Given the description of an element on the screen output the (x, y) to click on. 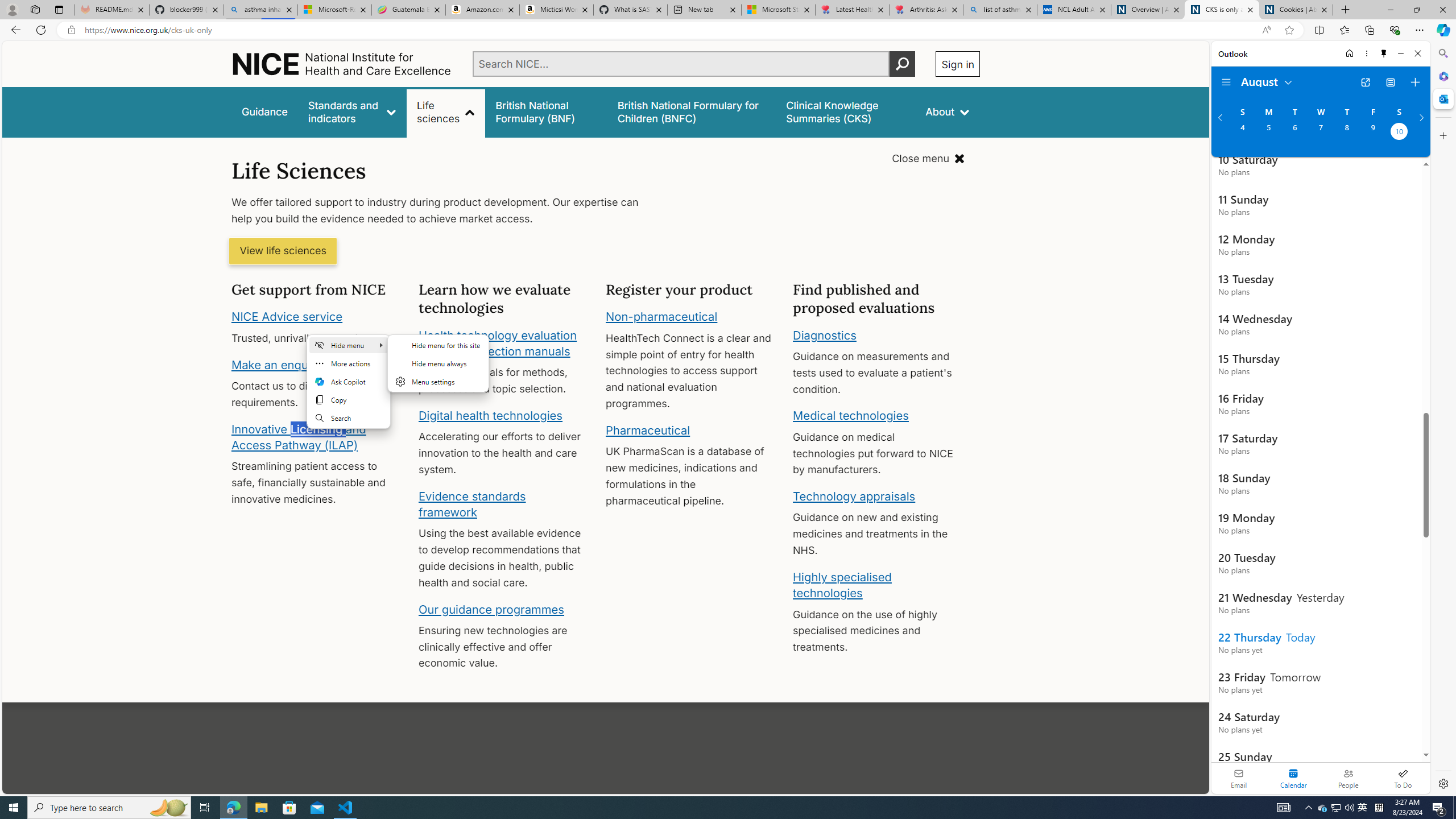
NICE Advice service (287, 316)
View life sciences (282, 251)
Thursday, August 8, 2024.  (1346, 132)
Monday, August 5, 2024.  (1268, 132)
Perform search (902, 63)
Folder navigation (1225, 82)
Selected calendar module. Date today is 22 (1293, 777)
Evidence standards framework (471, 503)
Make an enquiry (276, 364)
